Given the description of an element on the screen output the (x, y) to click on. 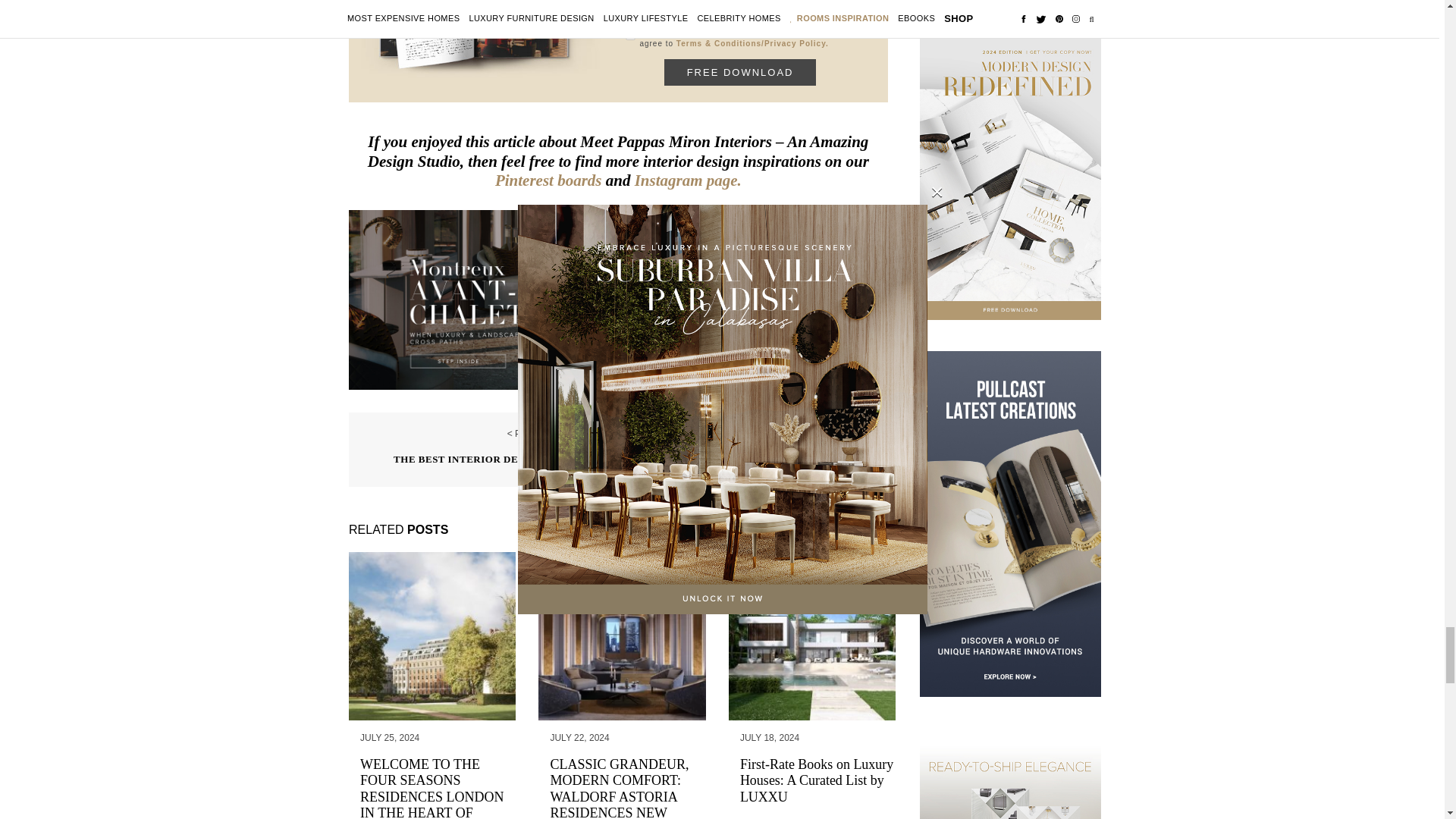
FREE DOWNLOAD (739, 71)
on (630, 35)
